Given the description of an element on the screen output the (x, y) to click on. 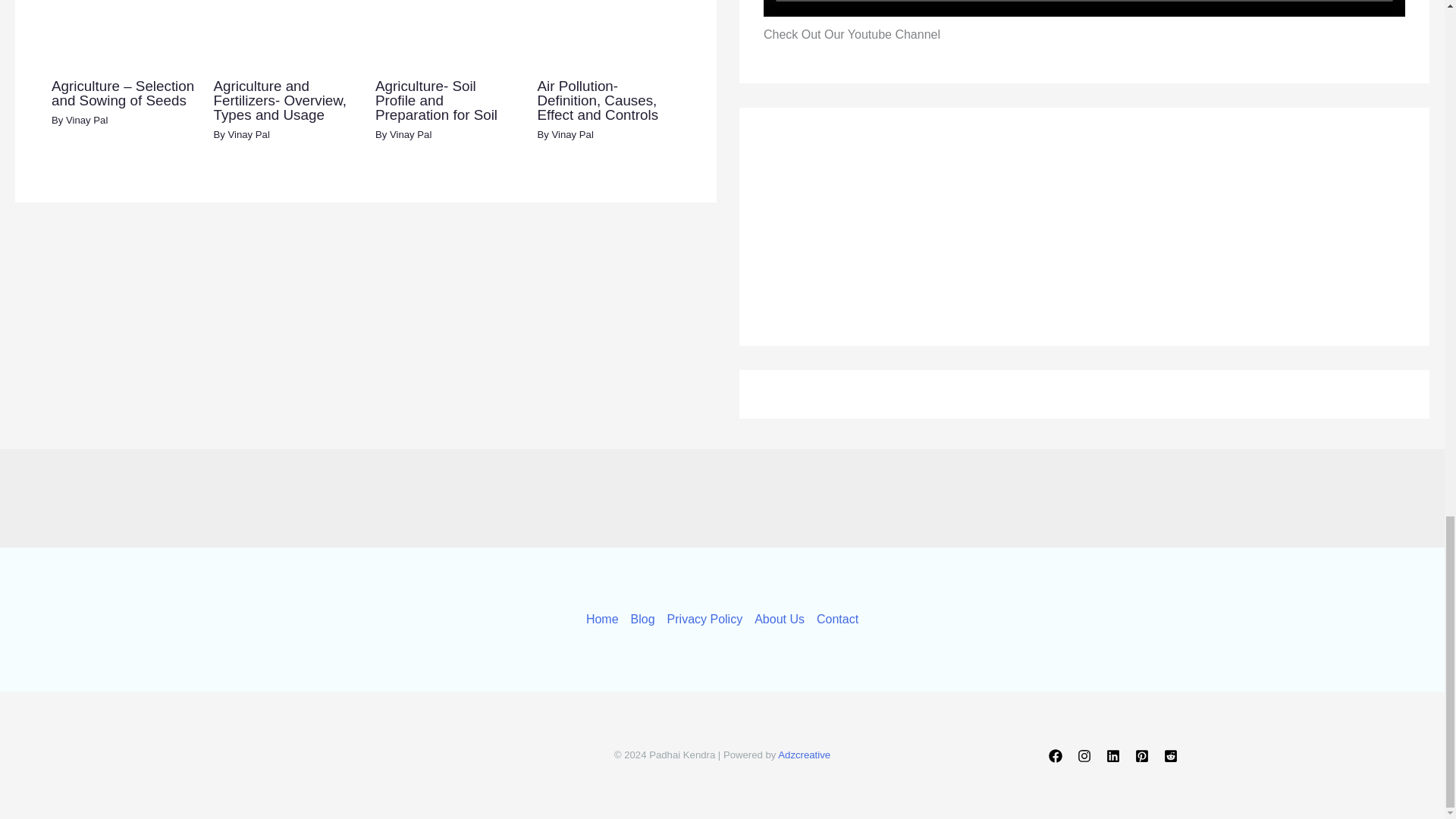
View all posts by Vinay Pal (86, 120)
View all posts by Vinay Pal (248, 134)
View all posts by Vinay Pal (571, 134)
View all posts by Vinay Pal (410, 134)
